Given the description of an element on the screen output the (x, y) to click on. 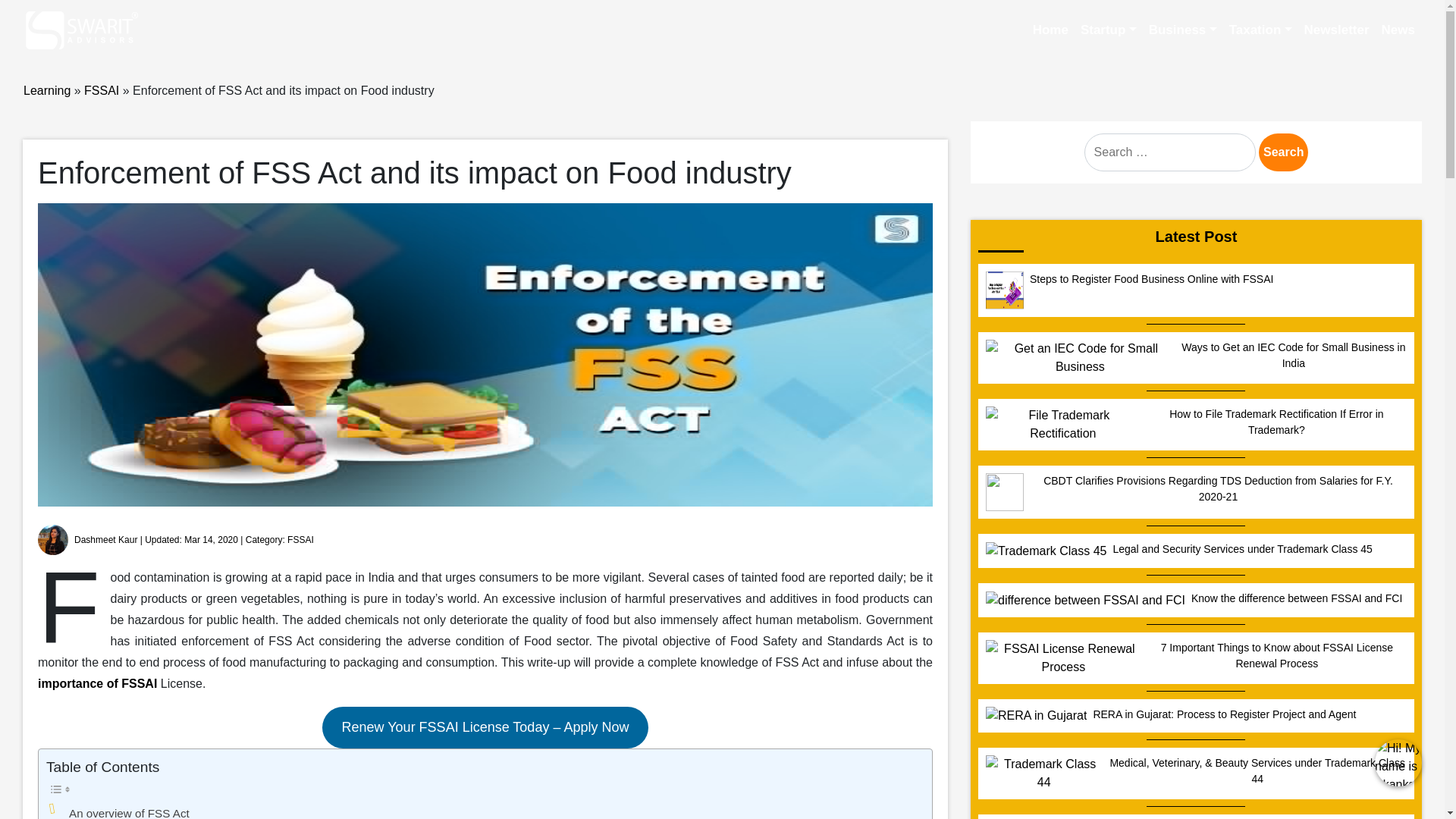
News (1398, 29)
Home (1050, 29)
Dashmeet Kaur (105, 539)
Newsletter (1336, 29)
Startup (1108, 29)
importance of FSSAI (97, 683)
Search (1283, 152)
FSSAI (101, 90)
An overview of FSS Act (128, 811)
Search (1283, 152)
FSSAI (300, 539)
Taxation (1260, 29)
Learning (46, 90)
An overview of FSS Act (128, 811)
Posts by Dashmeet Kaur (105, 539)
